Given the description of an element on the screen output the (x, y) to click on. 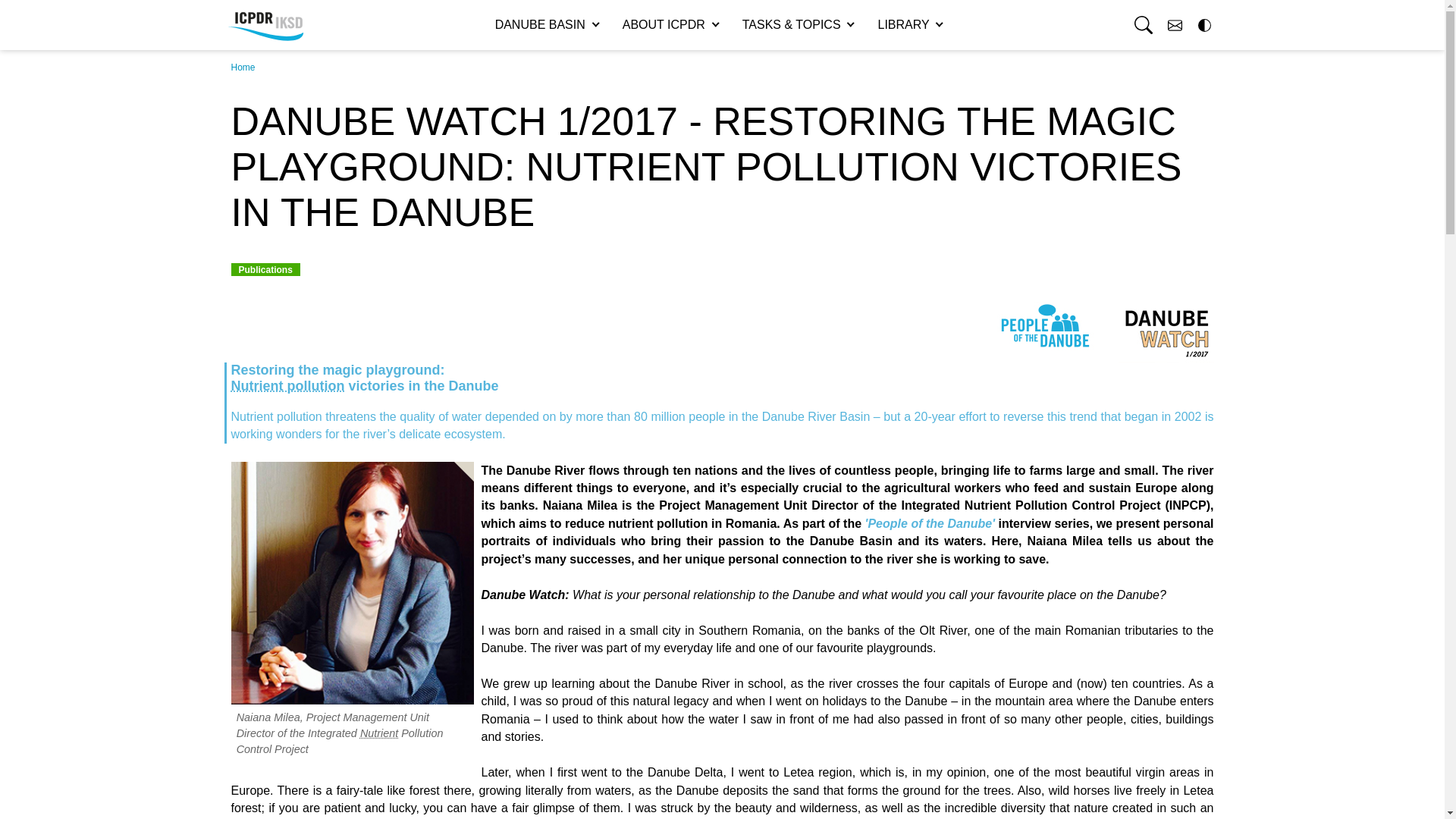
High Contrast Mode (1202, 25)
ABOUT ICPDR (670, 24)
Contact (1174, 25)
DANUBE BASIN (546, 24)
